Given the description of an element on the screen output the (x, y) to click on. 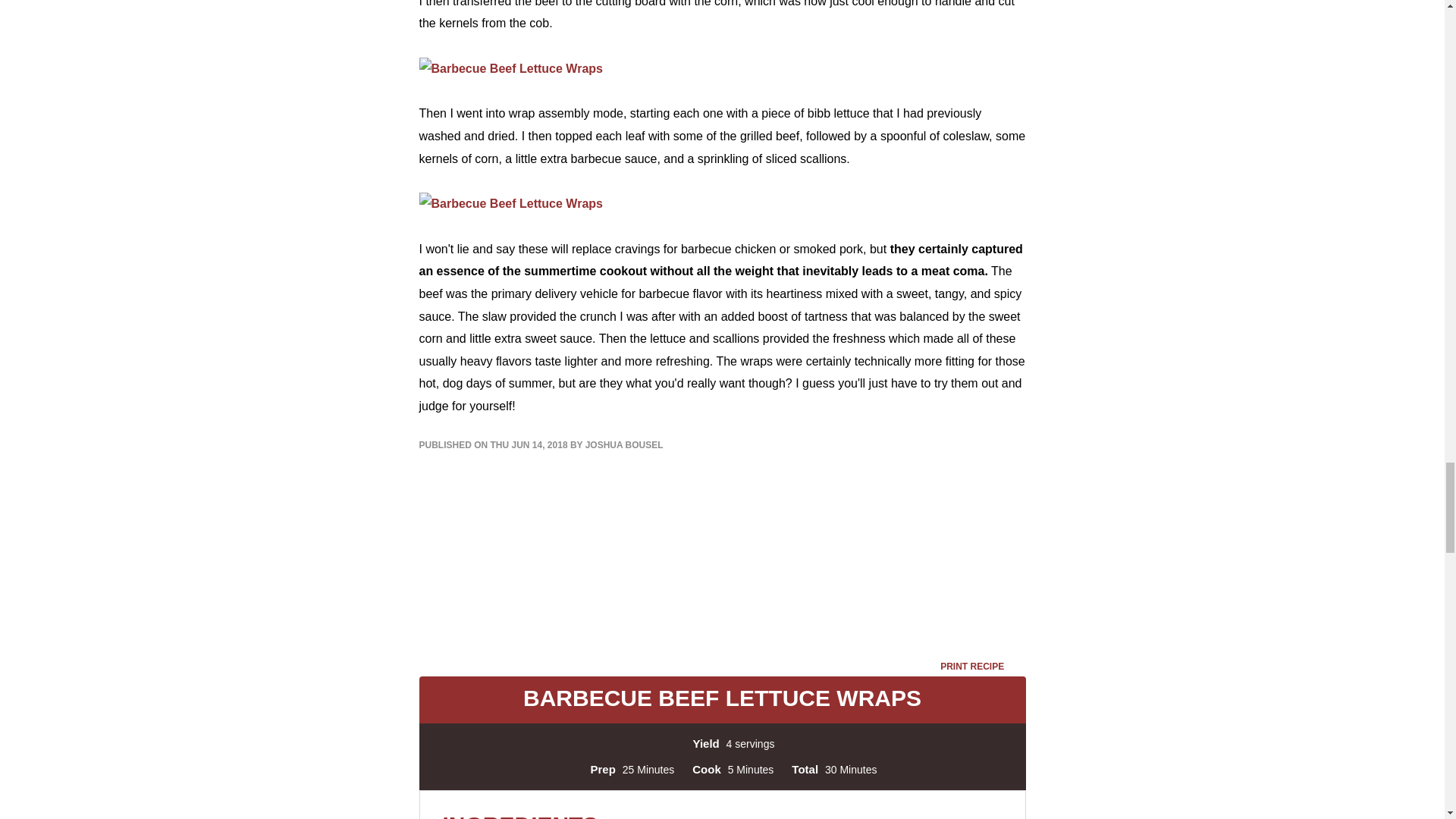
PRINT RECIPE (982, 665)
Barbecue Beef Lettuce Wraps (510, 68)
Barbecue Beef Lettuce Wraps (510, 203)
